Given the description of an element on the screen output the (x, y) to click on. 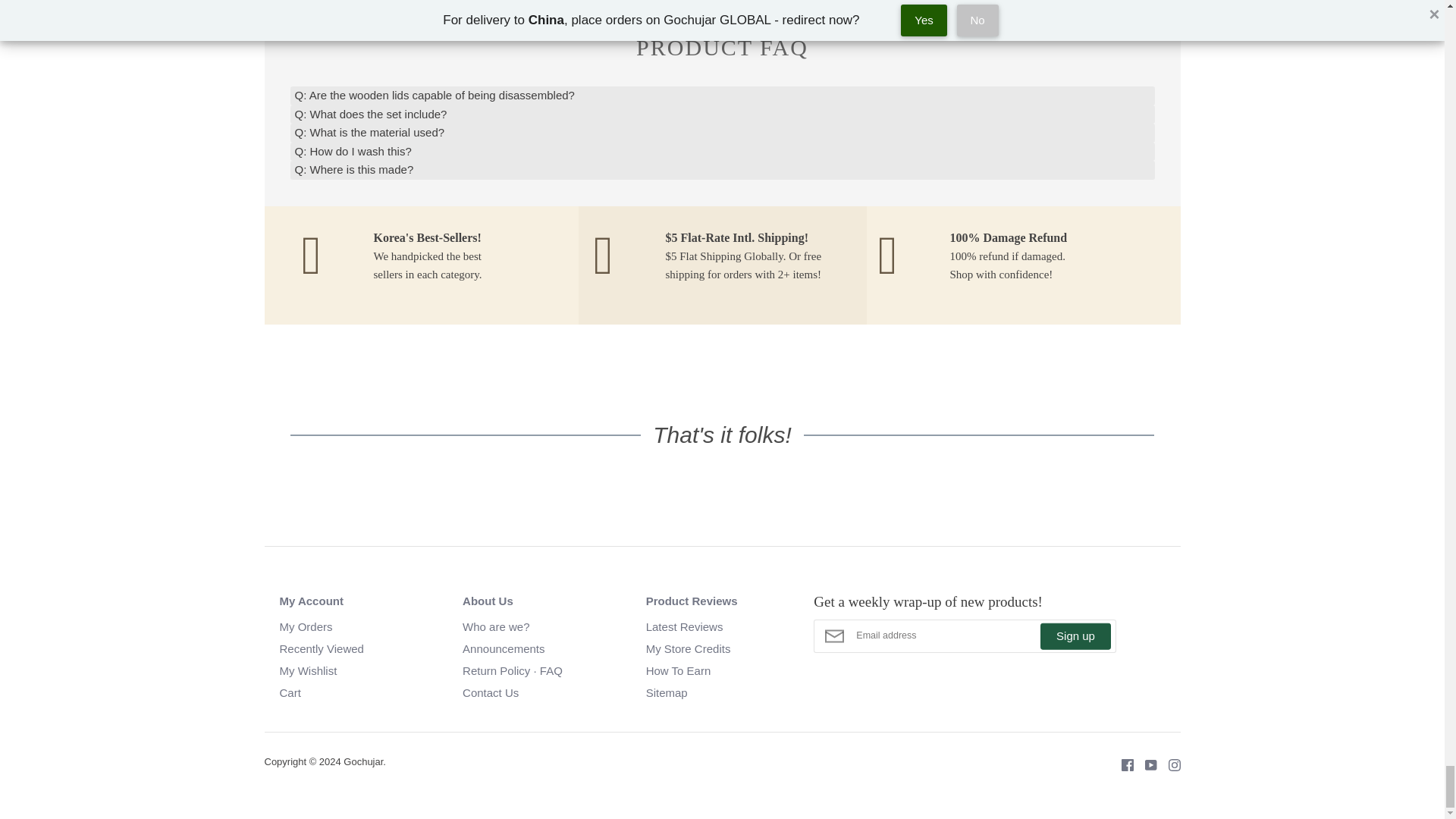
Facebook (1121, 763)
Youtube (1144, 763)
Instagram (1168, 763)
